Given the description of an element on the screen output the (x, y) to click on. 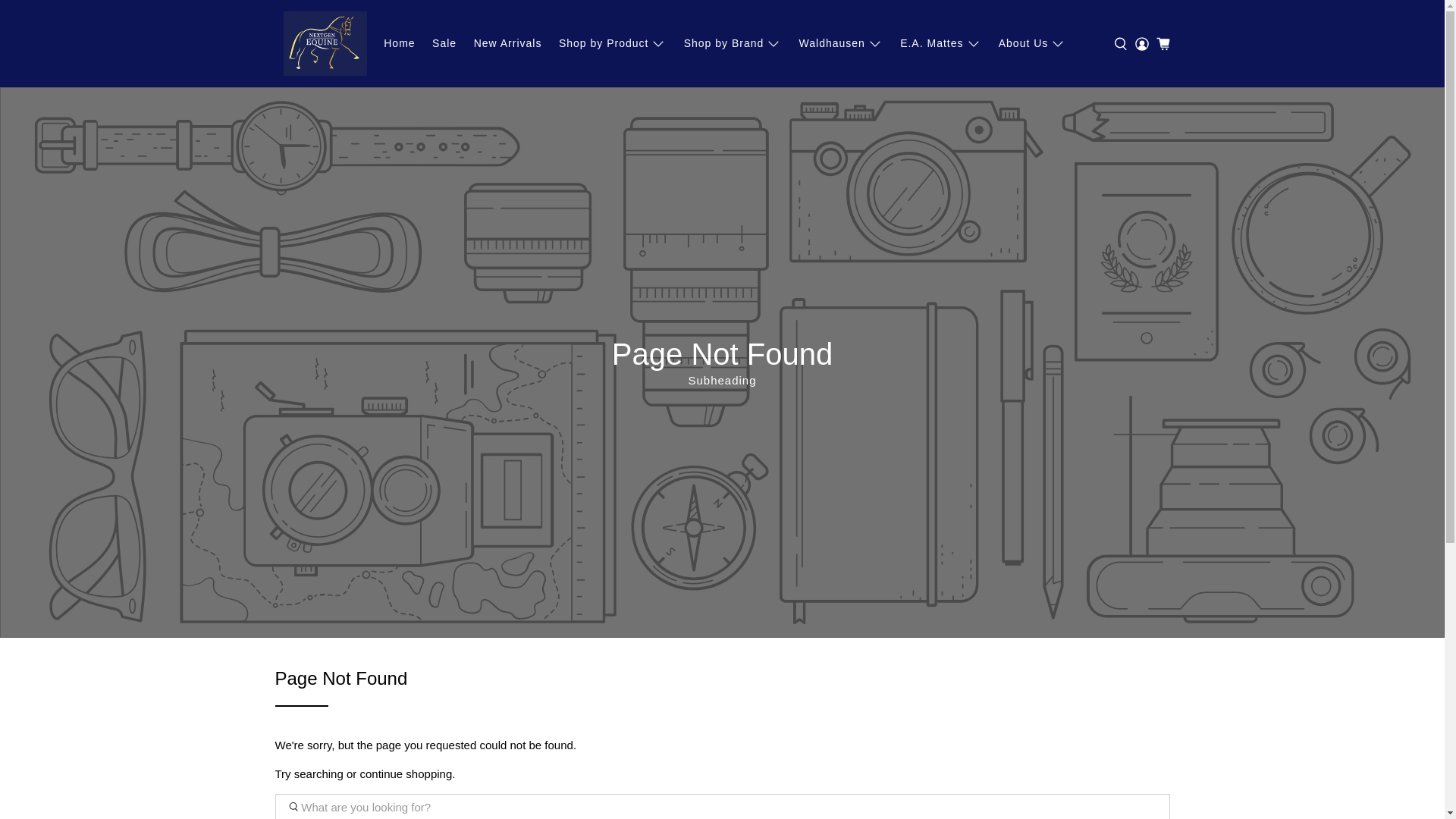
Shop by Brand Element type: text (732, 43)
Home Element type: text (399, 43)
NextGen Equine  Element type: hover (325, 43)
Sale Element type: text (444, 43)
Waldhausen Element type: text (840, 43)
continue shopping Element type: text (405, 773)
Shop by Product Element type: text (612, 43)
About Us Element type: text (1032, 43)
E.A. Mattes Element type: text (940, 43)
New Arrivals Element type: text (506, 43)
